Given the description of an element on the screen output the (x, y) to click on. 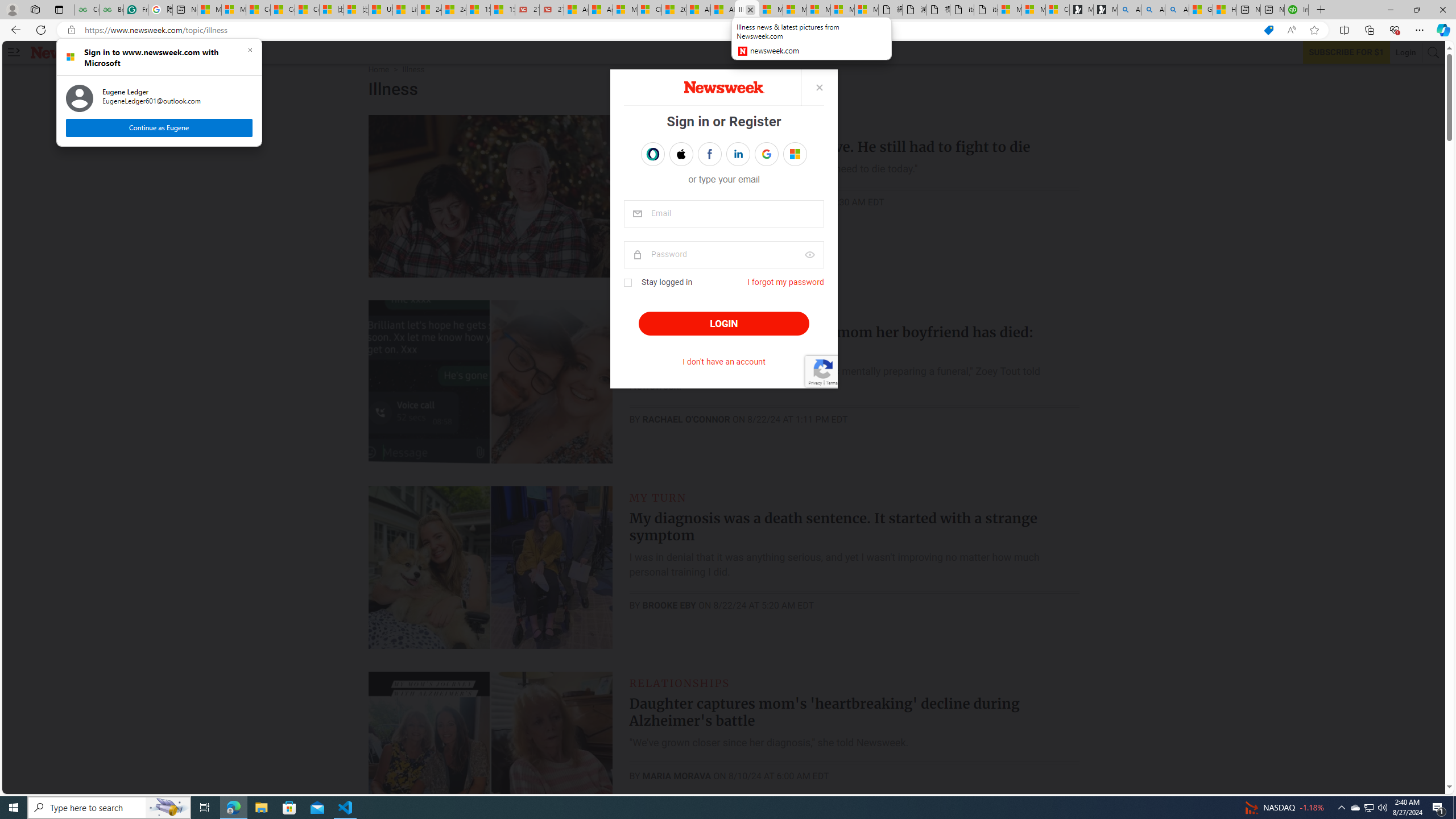
Complete Guide to Arrays Data Structure - GeeksforGeeks (86, 9)
Sign in with GOOGLE (766, 154)
Sign in with APPLE (680, 154)
Alabama high school quarterback dies - Search Videos (1355, 807)
